Given the description of an element on the screen output the (x, y) to click on. 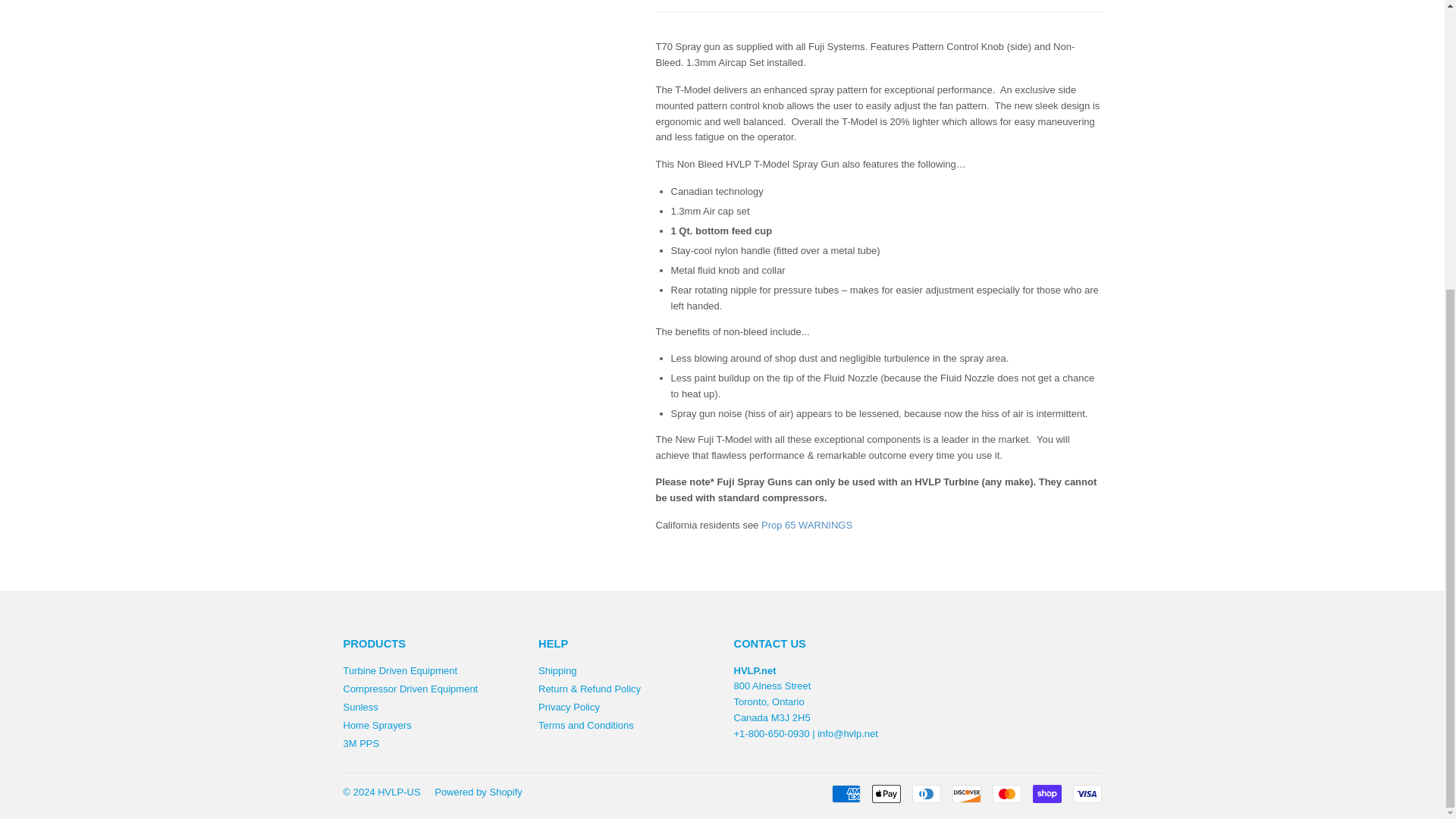
Apple Pay (886, 793)
tel:18006500930 (771, 733)
Discover (966, 793)
Visa (1085, 793)
Shop Pay (1046, 793)
Diners Club (925, 793)
Mastercard (1005, 793)
American Express (845, 793)
